Given the description of an element on the screen output the (x, y) to click on. 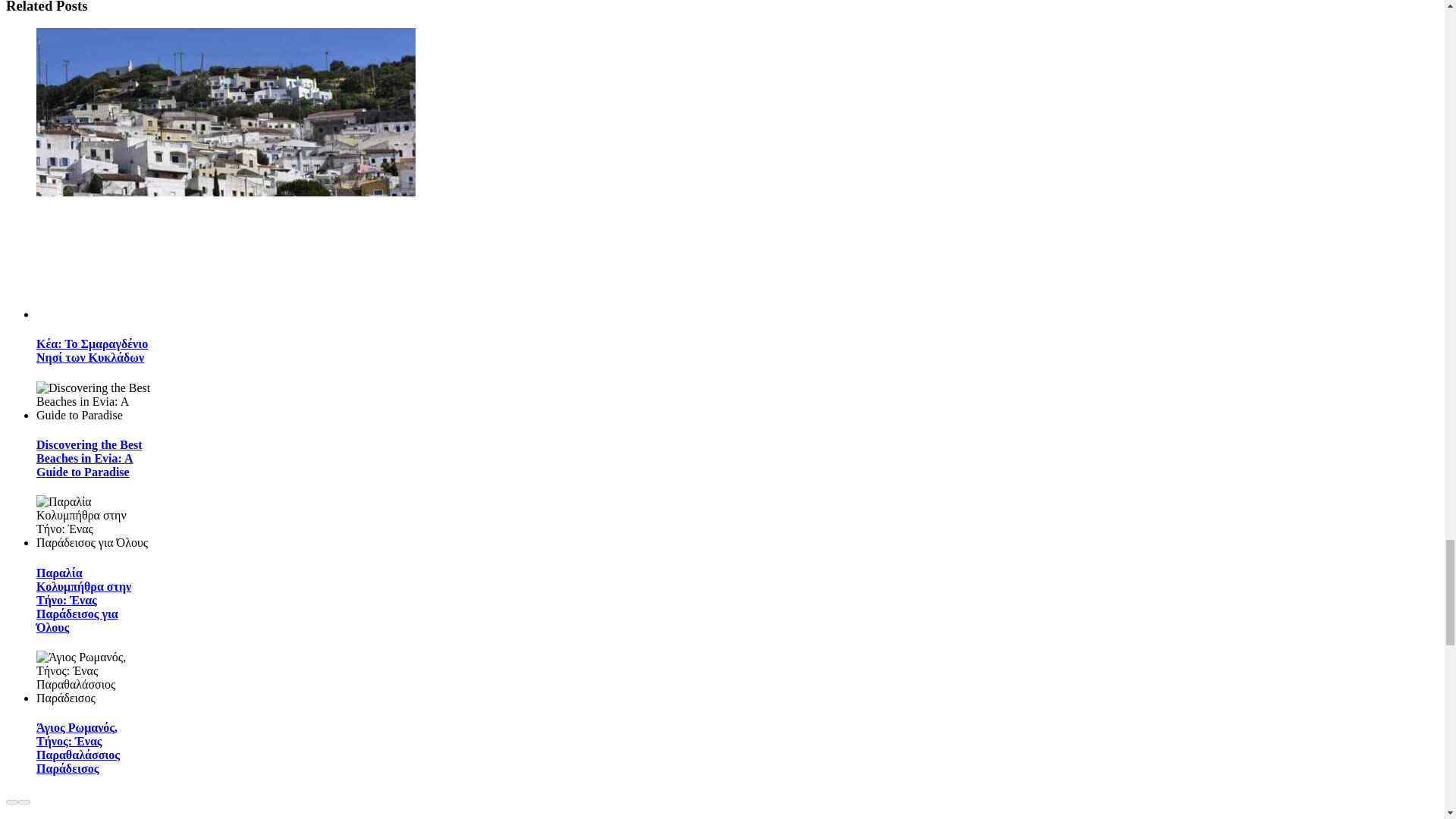
Discovering the Best Beaches in Evia: A Guide to Paradise (89, 458)
